Given the description of an element on the screen output the (x, y) to click on. 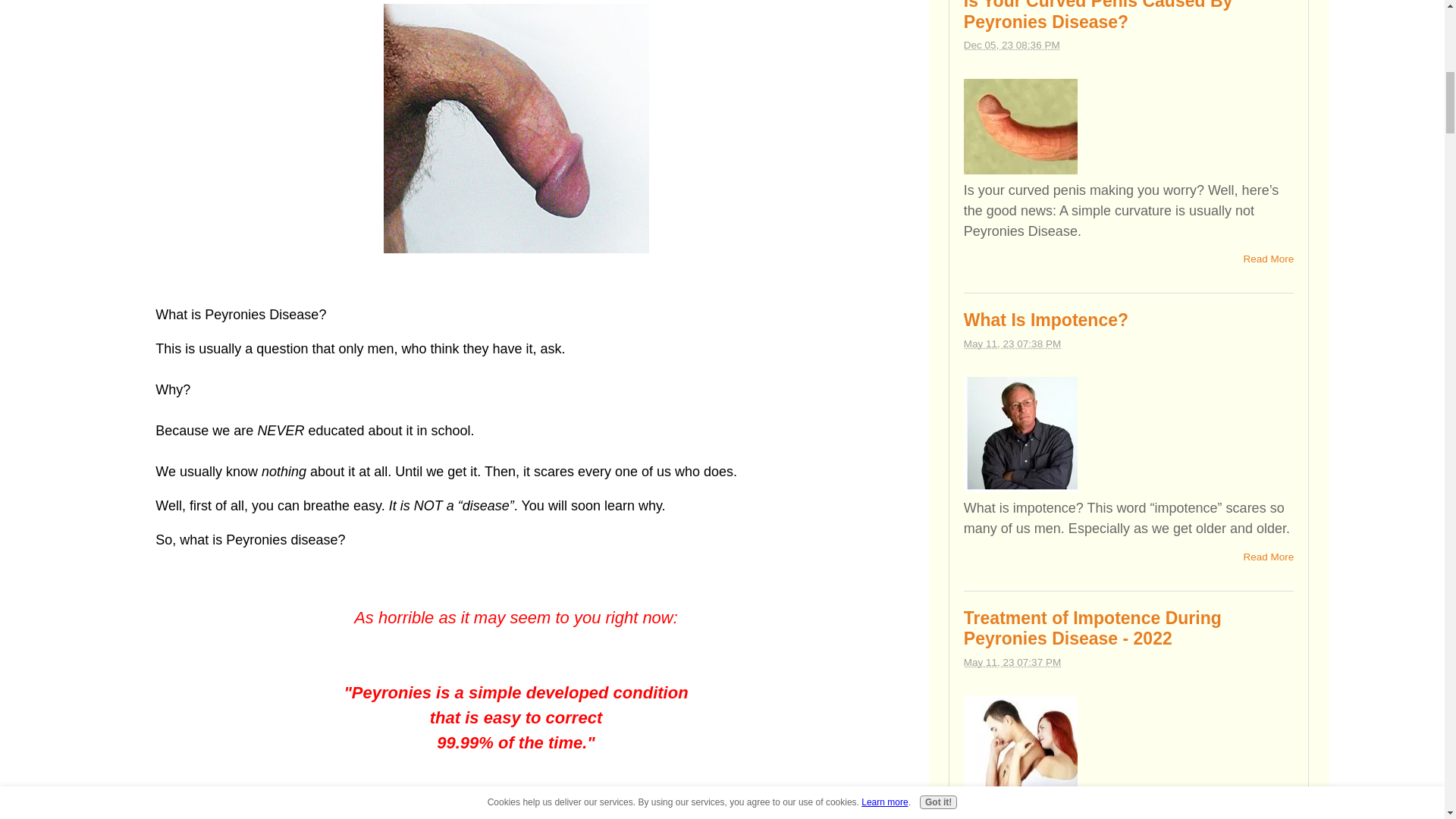
2023-05-11T19:37:07-0400 (1012, 662)
2023-05-11T19:38:24-0400 (1012, 343)
2023-12-05T20:36:28-0500 (1011, 44)
